Given the description of an element on the screen output the (x, y) to click on. 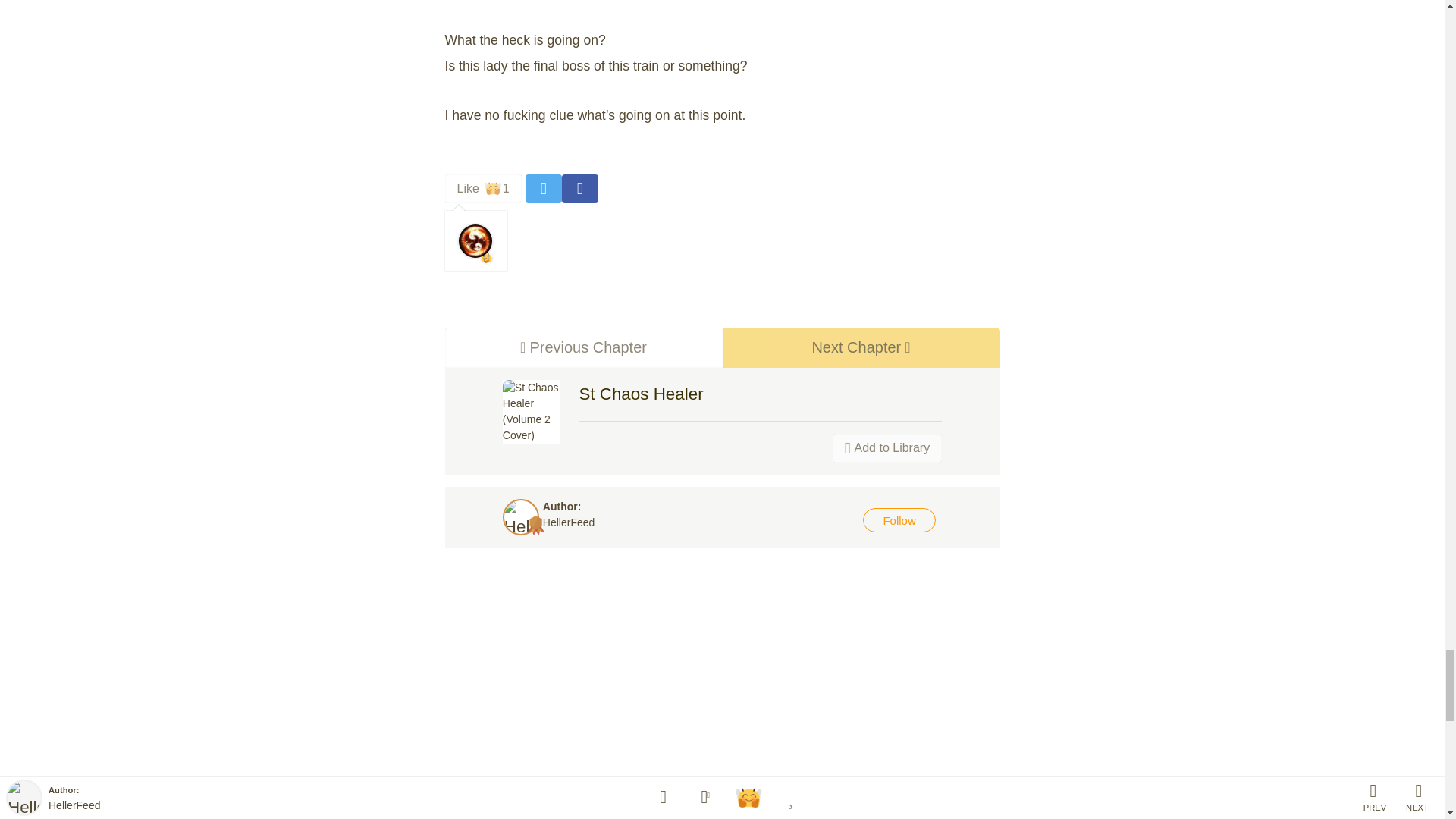
St Chaos Healer (640, 393)
Like1 (482, 188)
EliteWarrior910 (860, 346)
HellerFeed (583, 347)
Add to Library (475, 240)
translation missing: en.common.author: (583, 346)
Follow (568, 522)
